Given the description of an element on the screen output the (x, y) to click on. 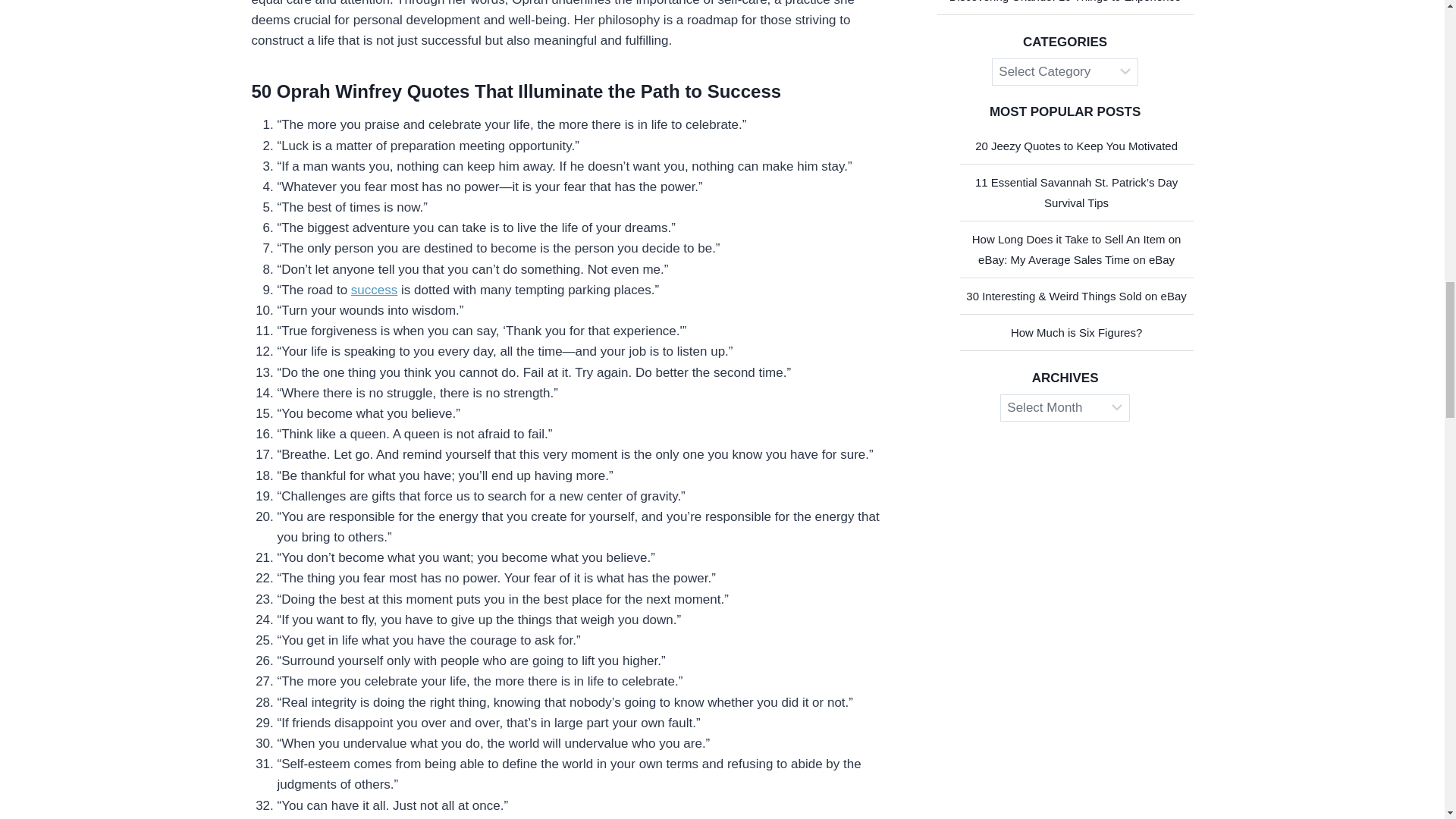
success (373, 289)
How Much is Six Figures? (1075, 332)
20 Jeezy Quotes to Keep You Motivated (1076, 145)
